Given the description of an element on the screen output the (x, y) to click on. 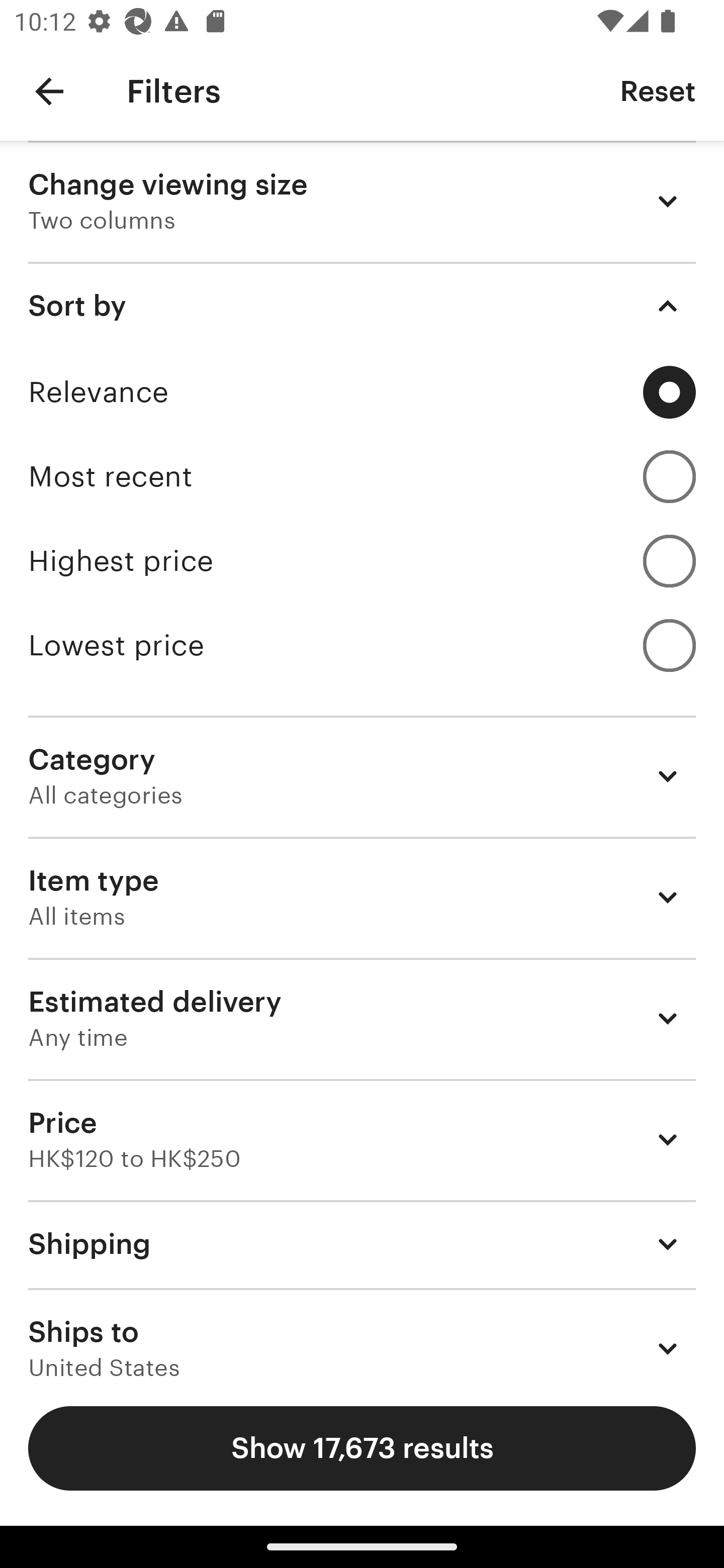
Navigate up (49, 91)
Reset (657, 90)
Change viewing size Two columns (362, 201)
Sort by (362, 305)
Relevance (362, 391)
Most recent (362, 476)
Highest price (362, 561)
Lowest price (362, 644)
Category All categories (362, 776)
Item type All items (362, 897)
Estimated delivery Any time (362, 1018)
Price HK$120 to HK$250 (362, 1138)
Shipping (362, 1243)
Ships to United States (362, 1332)
Show 17,673 results Show results (361, 1448)
